Given the description of an element on the screen output the (x, y) to click on. 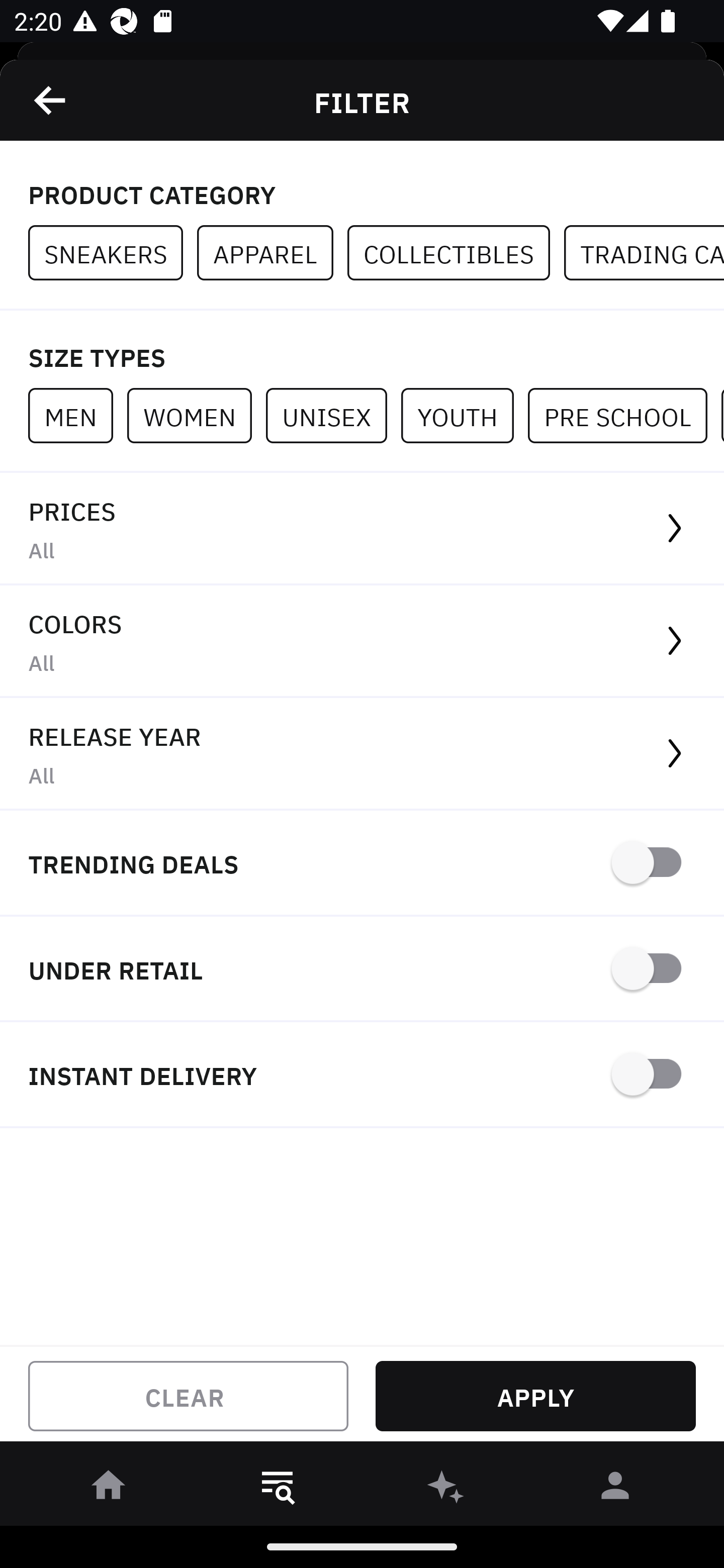
 (50, 100)
SNEAKERS (112, 252)
APPAREL (271, 252)
COLLECTIBLES (455, 252)
TRADING CARDS (643, 252)
MEN (77, 415)
WOMEN (196, 415)
UNISEX (333, 415)
YOUTH (464, 415)
PRE SCHOOL (624, 415)
PRICES All (362, 528)
COLORS All (362, 640)
RELEASE YEAR All (362, 753)
TRENDING DEALS (362, 863)
UNDER RETAIL (362, 969)
INSTANT DELIVERY (362, 1075)
CLEAR  (188, 1396)
APPLY (535, 1396)
󰋜 (108, 1488)
󱎸 (277, 1488)
󰫢 (446, 1488)
󰀄 (615, 1488)
